Given the description of an element on the screen output the (x, y) to click on. 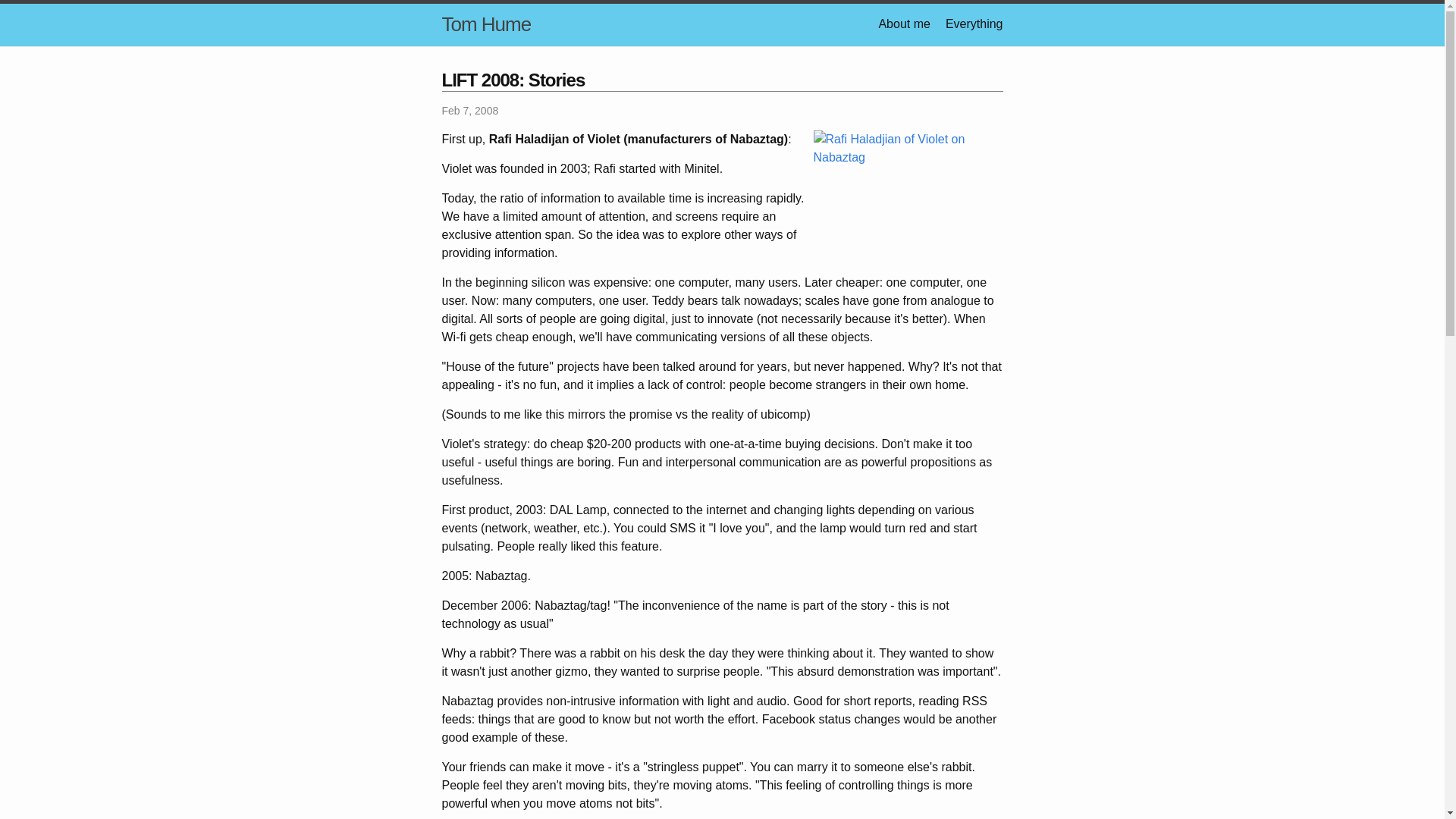
Tom Hume (486, 24)
About me (903, 23)
Everything (973, 23)
